Given the description of an element on the screen output the (x, y) to click on. 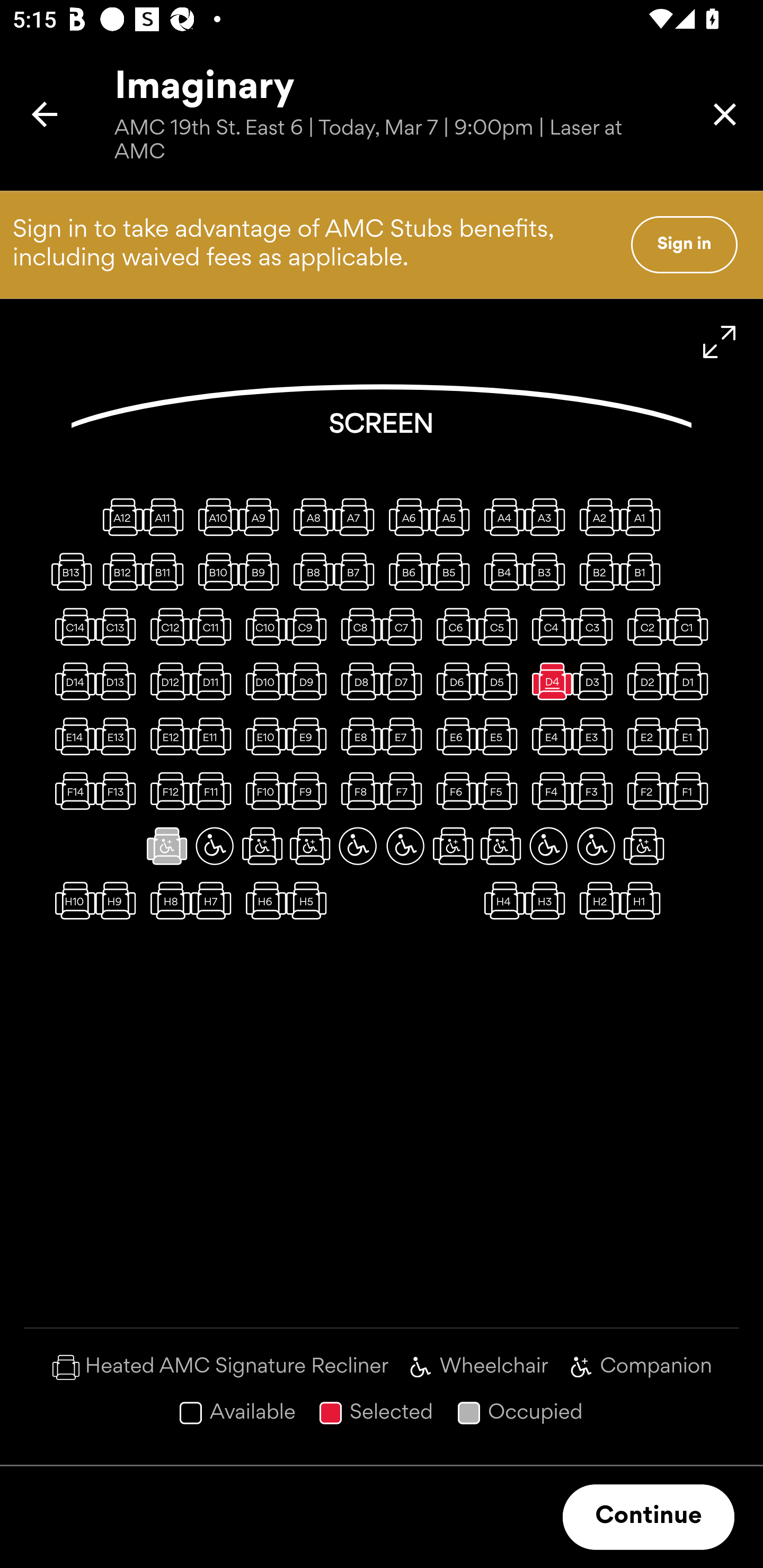
Back (44, 114)
Close (724, 114)
Sign in (684, 244)
Zoom (719, 342)
A12, Regular seat, available (119, 516)
A11, Regular seat, available (166, 516)
A10, Regular seat, available (214, 516)
A9, Regular seat, available (262, 516)
A8, Regular seat, available (310, 516)
A7, Regular seat, available (357, 516)
A6, Regular seat, available (404, 516)
A5, Regular seat, available (452, 516)
A4, Regular seat, available (500, 516)
A3, Regular seat, available (548, 516)
A2, Regular seat, available (595, 516)
A1, Regular seat, available (643, 516)
B13, Regular seat, available (71, 571)
B12, Regular seat, available (119, 571)
B11, Regular seat, available (166, 571)
B10, Regular seat, available (214, 571)
B9, Regular seat, available (262, 571)
B8, Regular seat, available (310, 571)
B7, Regular seat, available (357, 571)
B6, Regular seat, available (404, 571)
B5, Regular seat, available (452, 571)
B4, Regular seat, available (500, 571)
B3, Regular seat, available (548, 571)
B2, Regular seat, available (595, 571)
B1, Regular seat, available (643, 571)
C14, Regular seat, available (71, 625)
C13, Regular seat, available (119, 625)
C12, Regular seat, available (166, 625)
C11, Regular seat, available (214, 625)
C10, Regular seat, available (262, 625)
C9, Regular seat, available (310, 625)
C8, Regular seat, available (357, 625)
C7, Regular seat, available (404, 625)
C6, Regular seat, available (452, 625)
C5, Regular seat, available (500, 625)
C4, Regular seat, available (548, 625)
C3, Regular seat, available (595, 625)
C2, Regular seat, available (643, 625)
C1, Regular seat, available (691, 625)
D14, Regular seat, available (71, 680)
D13, Regular seat, available (119, 680)
D12, Regular seat, available (166, 680)
D11, Regular seat, available (214, 680)
D10, Regular seat, available (262, 680)
D9, Regular seat, available (310, 680)
D8, Regular seat, available (357, 680)
D7, Regular seat, available (404, 680)
D6, Regular seat, available (452, 680)
D5, Regular seat, available (500, 680)
D4, Regular seat, selected (548, 680)
D3, Regular seat, available (595, 680)
D2, Regular seat, available (643, 680)
D1, Regular seat, available (691, 680)
E14, Regular seat, available (71, 735)
E13, Regular seat, available (119, 735)
E12, Regular seat, available (166, 735)
E11, Regular seat, available (214, 735)
E10, Regular seat, available (262, 735)
E9, Regular seat, available (310, 735)
E8, Regular seat, available (357, 735)
E7, Regular seat, available (404, 735)
E6, Regular seat, available (452, 735)
E5, Regular seat, available (500, 735)
E4, Regular seat, available (548, 735)
E3, Regular seat, available (595, 735)
E2, Regular seat, available (643, 735)
E1, Regular seat, available (691, 735)
F14, Regular seat, available (71, 790)
F13, Regular seat, available (119, 790)
F12, Regular seat, available (166, 790)
F11, Regular seat, available (214, 790)
F10, Regular seat, available (262, 790)
F9, Regular seat, available (310, 790)
F8, Regular seat, available (357, 790)
F7, Regular seat, available (404, 790)
F6, Regular seat, available (452, 790)
F5, Regular seat, available (500, 790)
F4, Regular seat, available (548, 790)
F3, Regular seat, available (595, 790)
F2, Regular seat, available (643, 790)
F1, Regular seat, available (691, 790)
G10, Wheelchair space, available (214, 845)
G9, Wheelchair companion seat, available (262, 845)
G8, Wheelchair companion seat, available (310, 845)
G7, Wheelchair space, available (357, 845)
G6, Wheelchair space, available (404, 845)
G5, Wheelchair companion seat, available (452, 845)
G4, Wheelchair companion seat, available (500, 845)
G3, Wheelchair space, available (548, 845)
G2, Wheelchair space, available (595, 845)
G1, Wheelchair companion seat, available (643, 845)
H10, Regular seat, available (71, 900)
H9, Regular seat, available (119, 900)
H8, Regular seat, available (166, 900)
H7, Regular seat, available (214, 900)
H6, Regular seat, available (262, 900)
H5, Regular seat, available (310, 900)
H4, Regular seat, available (500, 900)
H3, Regular seat, available (548, 900)
H2, Regular seat, available (595, 900)
H1, Regular seat, available (643, 900)
Continue (648, 1516)
